Given the description of an element on the screen output the (x, y) to click on. 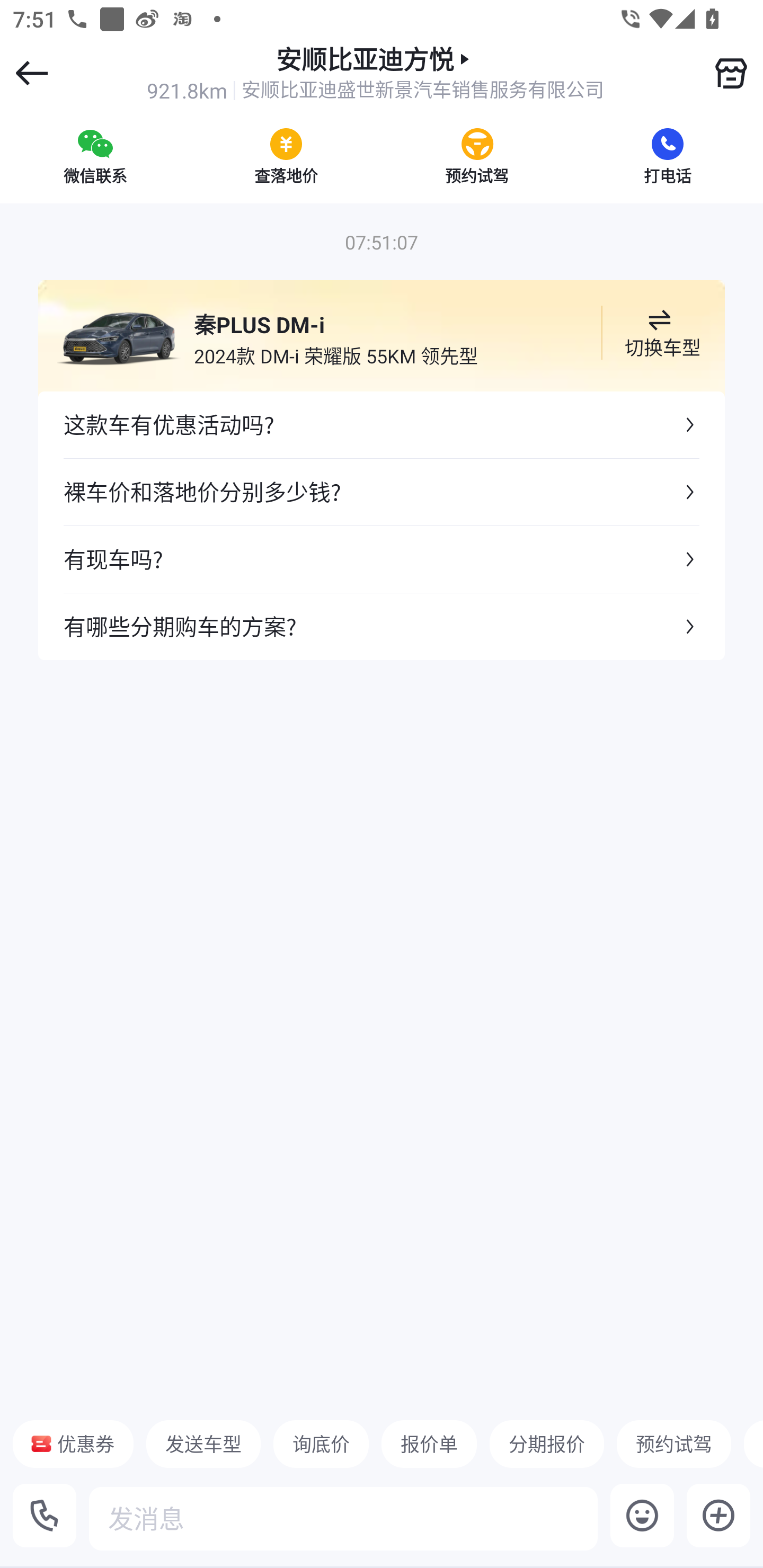
安顺比亚迪方悦 921.8km 安顺比亚迪盛世新景汽车销售服务有限公司 (374, 73)
 (730, 73)
微信联系 (95, 155)
查落地价 (285, 155)
预约试驾 (476, 155)
打电话 (667, 155)
切换车型 (659, 332)
这款车有优惠活动吗? (381, 424)
裸车价和落地价分别多少钱? (381, 492)
有现车吗? (381, 558)
有哪些分期购车的方案? (381, 626)
优惠券 (72, 1443)
发送车型 (203, 1443)
询底价 (320, 1443)
报价单 (428, 1443)
分期报价 (546, 1443)
预约试驾 (673, 1443)
 (718, 1515)
发消息 (343, 1518)
